Given the description of an element on the screen output the (x, y) to click on. 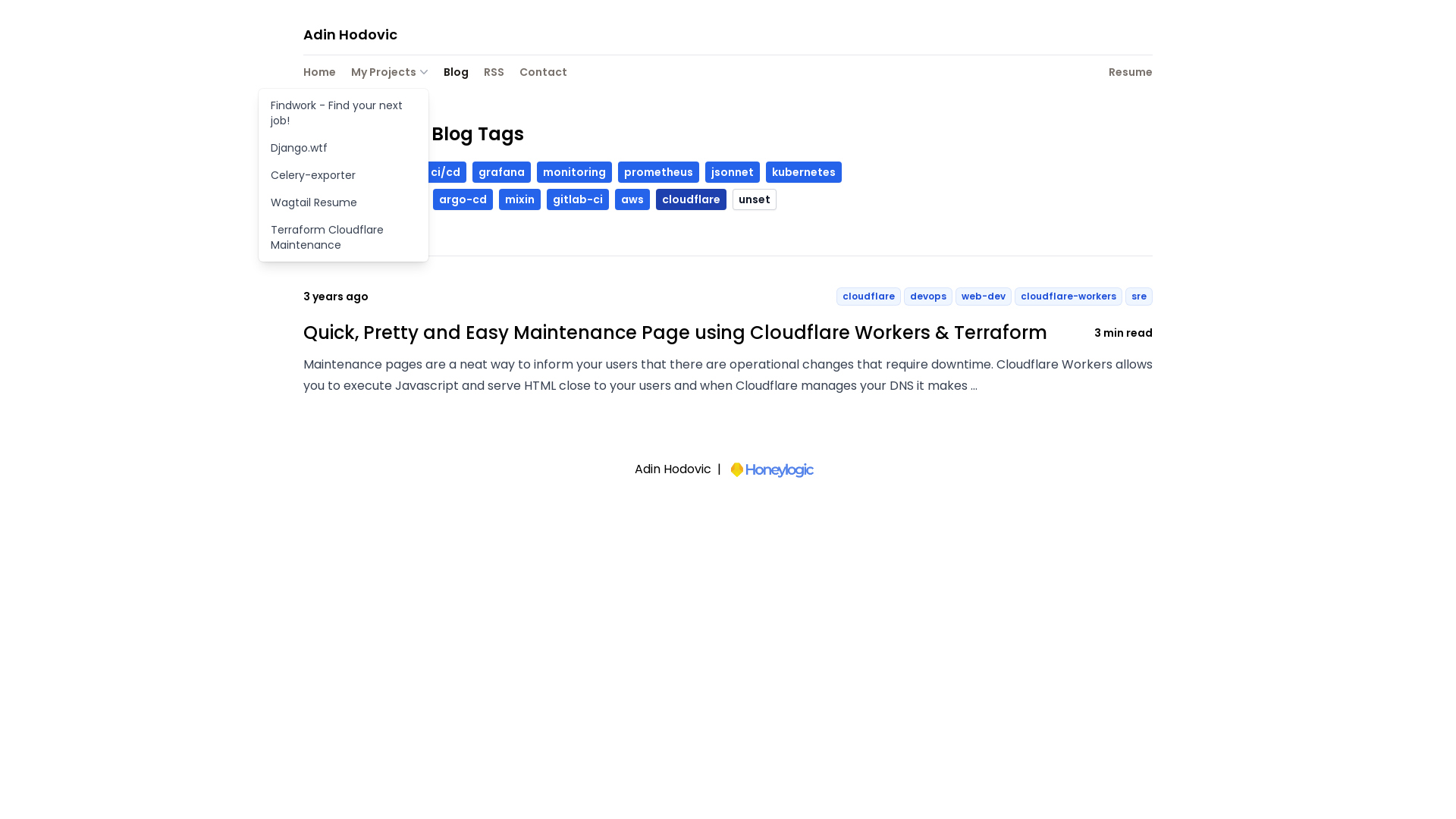
Findwork - Find your next job! Element type: text (343, 112)
celery Element type: text (329, 199)
cloudflare Element type: text (690, 199)
argo-cd Element type: text (462, 199)
django Element type: text (392, 171)
Wagtail Resume Element type: text (343, 202)
Blog Element type: text (455, 73)
devops Element type: text (333, 171)
unset Element type: text (754, 199)
monitoring Element type: text (573, 171)
Adin Hodovic
| Element type: text (727, 469)
ci/cd Element type: text (445, 171)
kubernetes Element type: text (803, 171)
jsonnet Element type: text (732, 171)
Django.wtf Element type: text (343, 147)
Home Element type: text (319, 73)
prometheus Element type: text (658, 171)
Terraform Cloudflare Maintenance Element type: text (343, 237)
gitlab-ci Element type: text (577, 199)
grafana Element type: text (501, 171)
RSS Element type: text (493, 73)
aws Element type: text (632, 199)
Contact Element type: text (543, 73)
Resume Element type: text (1130, 73)
mixin Element type: text (519, 199)
Celery-exporter Element type: text (343, 174)
My Projects Element type: text (389, 71)
terraform Element type: text (392, 199)
